Given the description of an element on the screen output the (x, y) to click on. 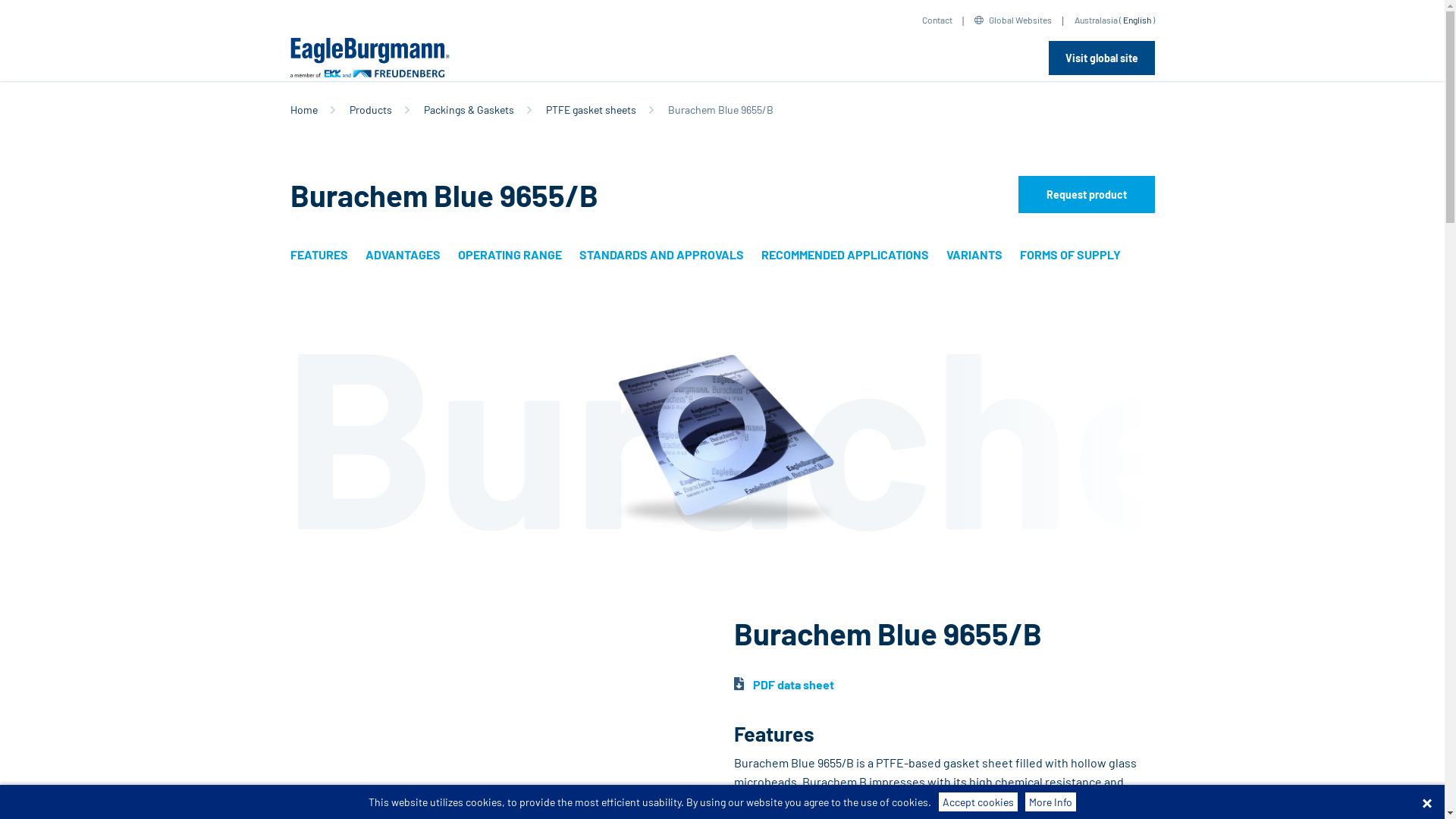
Contact Element type: text (937, 19)
ADVANTAGES Element type: text (402, 254)
Home Element type: text (302, 109)
Global Websites Element type: text (1007, 20)
RECOMMENDED APPLICATIONS Element type: text (844, 254)
Request product Element type: text (1085, 194)
FORMS OF SUPPLY Element type: text (1069, 254)
OPERATING RANGE Element type: text (509, 254)
More Info Element type: text (1050, 801)
PDF data sheet Element type: text (784, 684)
VARIANTS Element type: text (974, 254)
Visit global site Element type: text (1101, 57)
Australasia Element type: text (1087, 20)
PTFE gasket sheets Element type: text (591, 109)
STANDARDS AND APPROVALS Element type: text (661, 254)
Accept cookies Element type: text (977, 801)
Products Element type: text (369, 109)
Packings & Gaskets Element type: text (468, 109)
FEATURES Element type: text (318, 254)
EagleBurgmann Element type: hover (368, 57)
English Element type: text (1136, 19)
Burachem Blue 9655/B Element type: hover (721, 444)
